Given the description of an element on the screen output the (x, y) to click on. 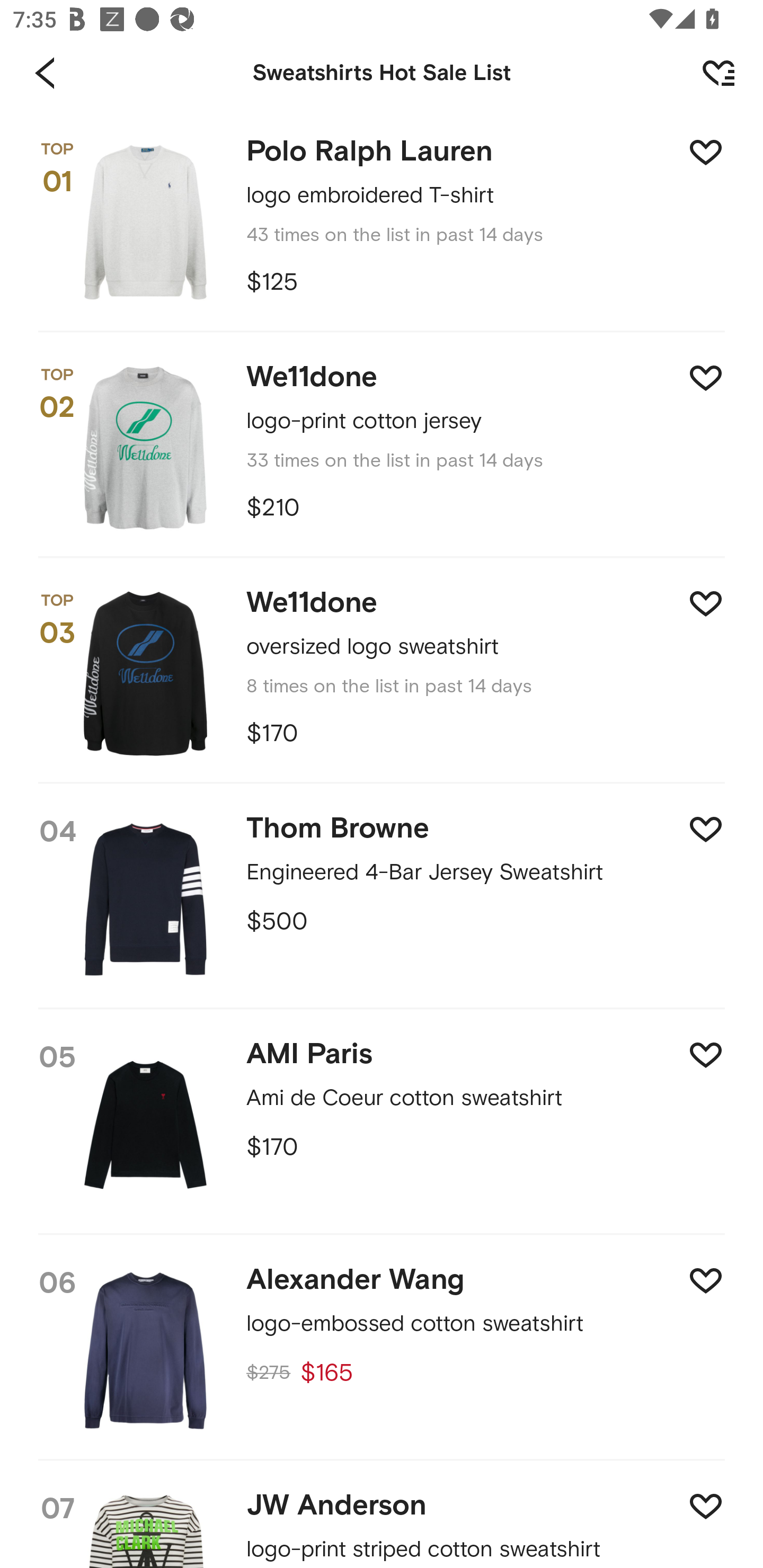
05 AMI Paris Ami de Coeur cotton sweatshirt  $170 (381, 1123)
